Given the description of an element on the screen output the (x, y) to click on. 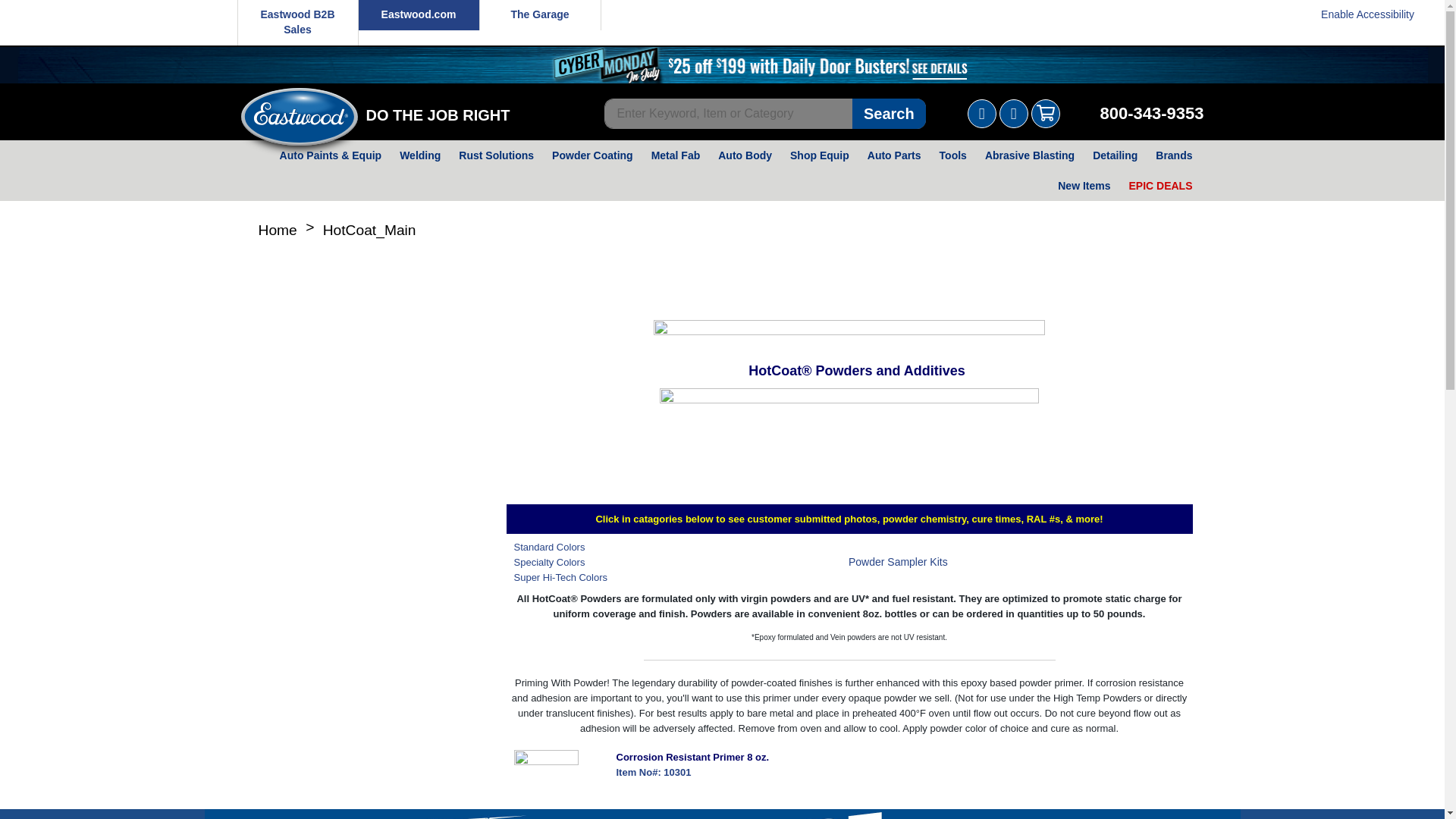
Eastwood.com (418, 15)
The Garage (539, 15)
Eastwood B2B Sales (296, 22)
Search (888, 113)
800-343-9353 (1151, 113)
Change (981, 113)
Search (888, 113)
My Cart (1044, 113)
Enable Accessibility (1367, 13)
Go to Home Page (276, 230)
